Given the description of an element on the screen output the (x, y) to click on. 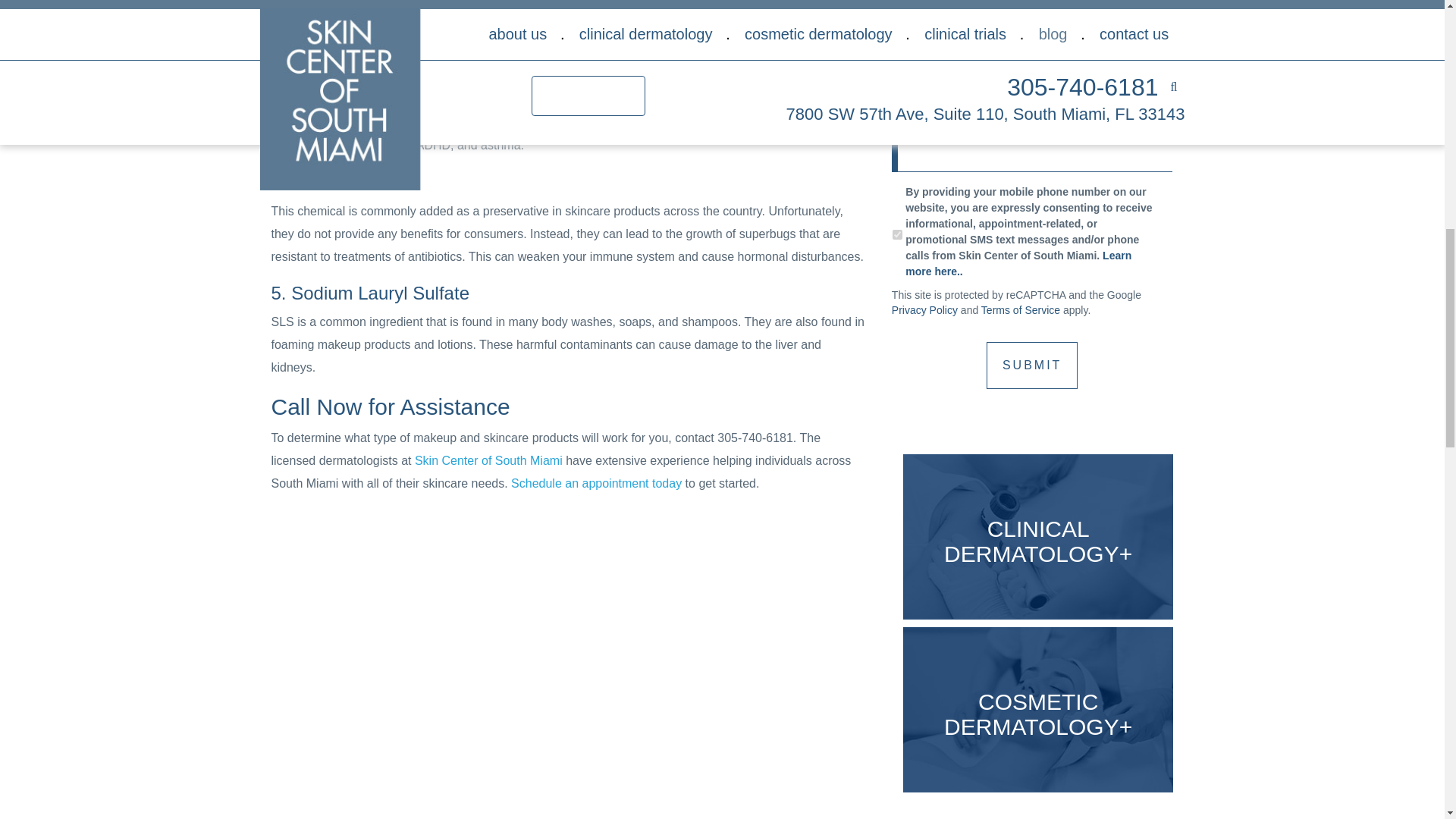
No (897, 3)
Yes (897, 234)
Submit (1032, 365)
